Given the description of an element on the screen output the (x, y) to click on. 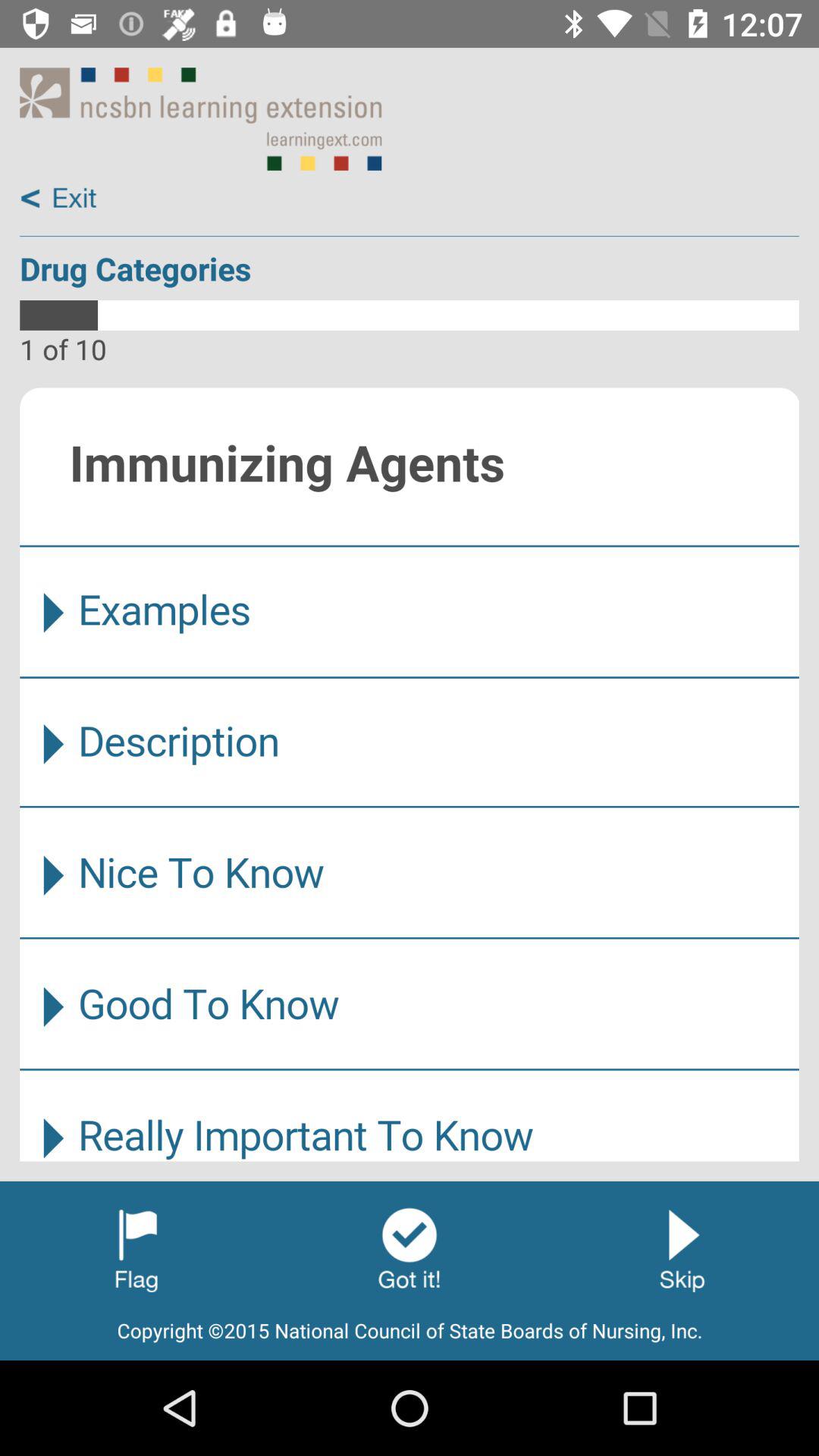
menu option (409, 774)
